Given the description of an element on the screen output the (x, y) to click on. 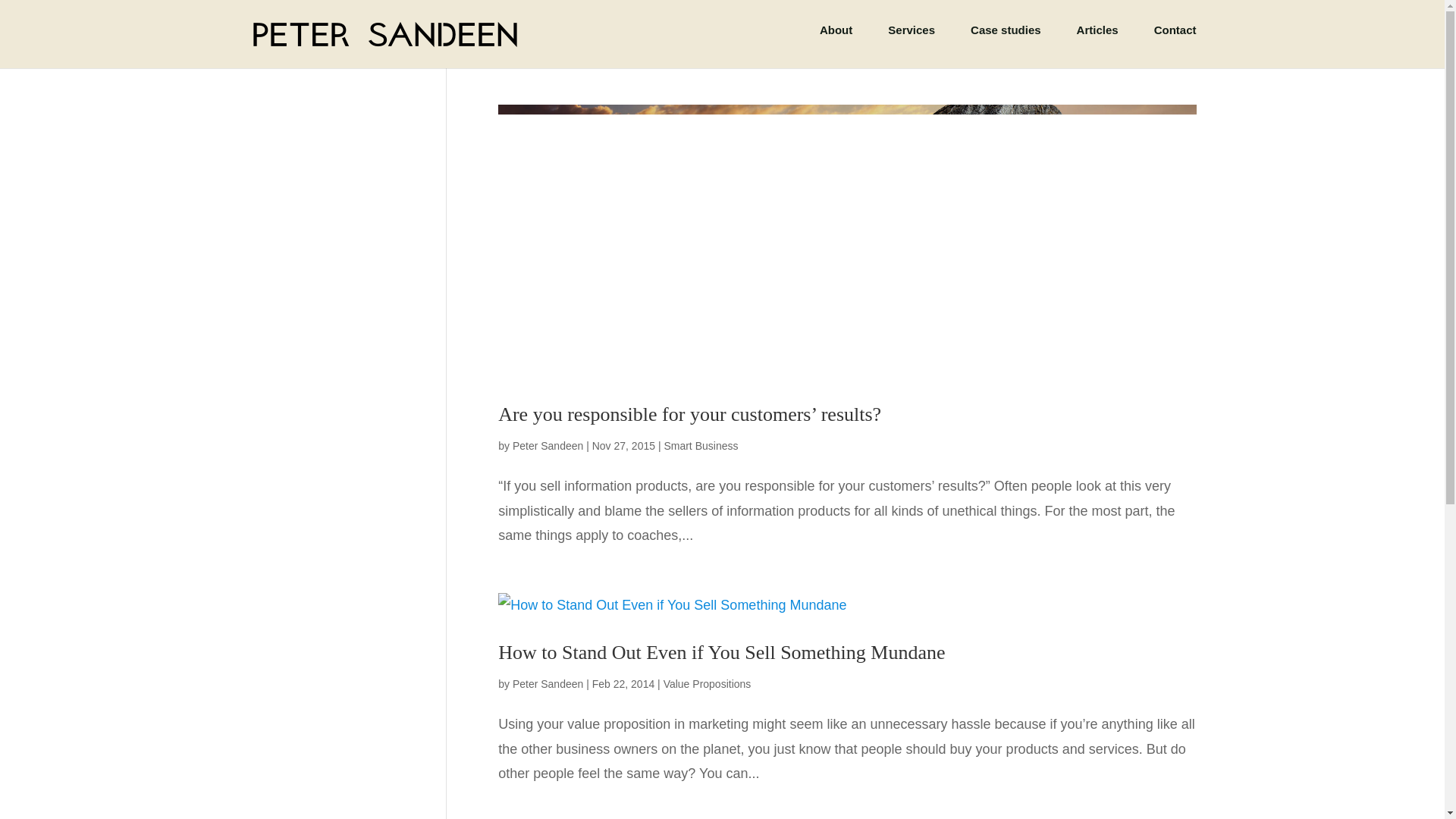
How to Stand Out Even if You Sell Something Mundane (720, 652)
Posts by Peter Sandeen (547, 684)
Contact (1175, 42)
Peter Sandeen (547, 445)
Case studies (1006, 42)
Articles (1097, 42)
Smart Business (700, 445)
Services (911, 42)
About (835, 42)
Value Propositions (707, 684)
Peter Sandeen (547, 684)
Posts by Peter Sandeen (547, 445)
